Given the description of an element on the screen output the (x, y) to click on. 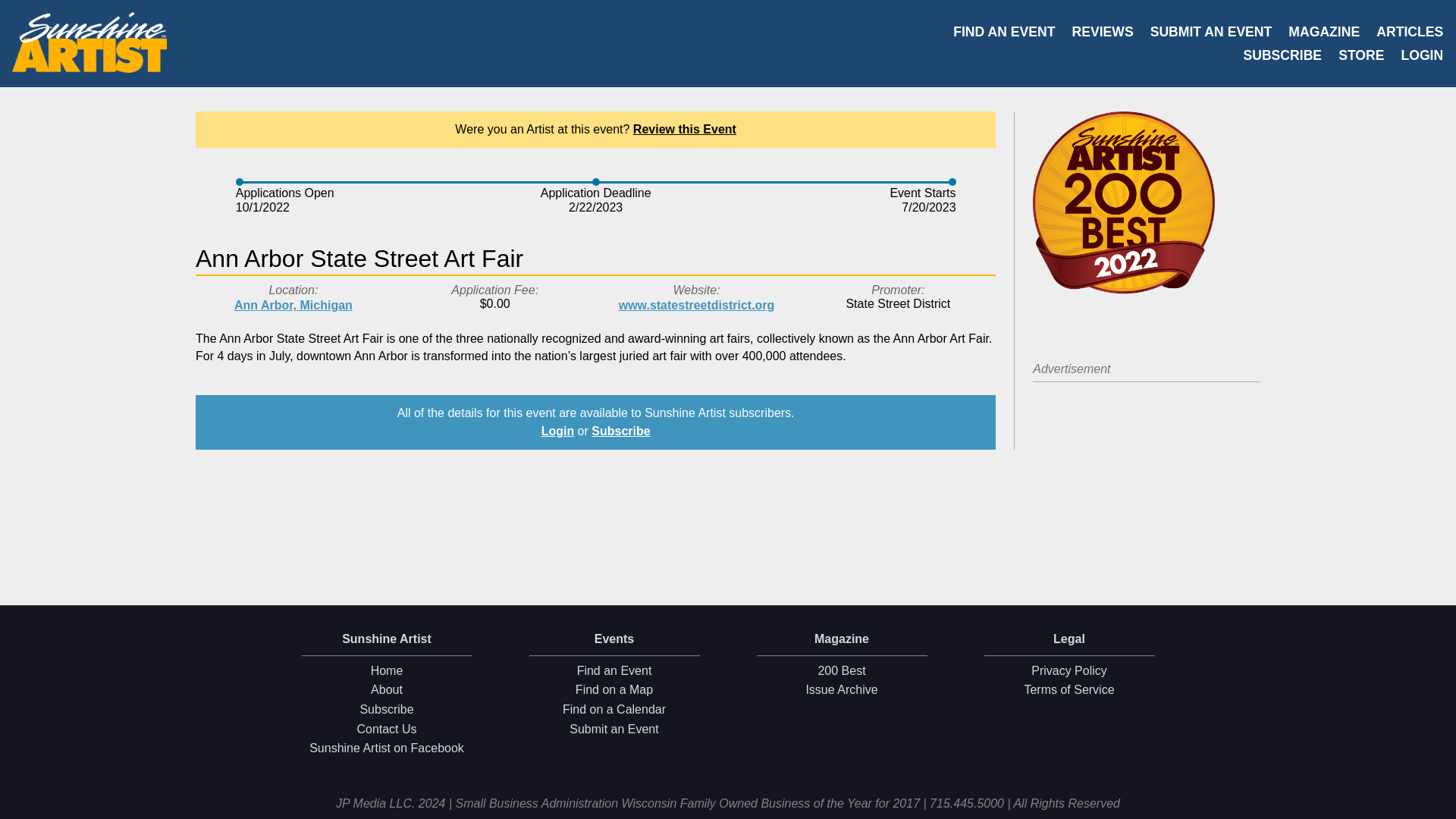
Sunshine Artist on Facebook (386, 748)
Data (1438, 804)
Issue Archive (841, 690)
Find on a Calendar (614, 709)
LOGIN (1421, 55)
SUBSCRIBE (1282, 55)
ARTICLES (1408, 33)
Terms of Service (1068, 690)
STORE (1361, 55)
Find an Event (614, 670)
Review this Event (684, 128)
Privacy Policy (1068, 670)
Subscribe (386, 709)
Login (558, 431)
About (386, 690)
